Given the description of an element on the screen output the (x, y) to click on. 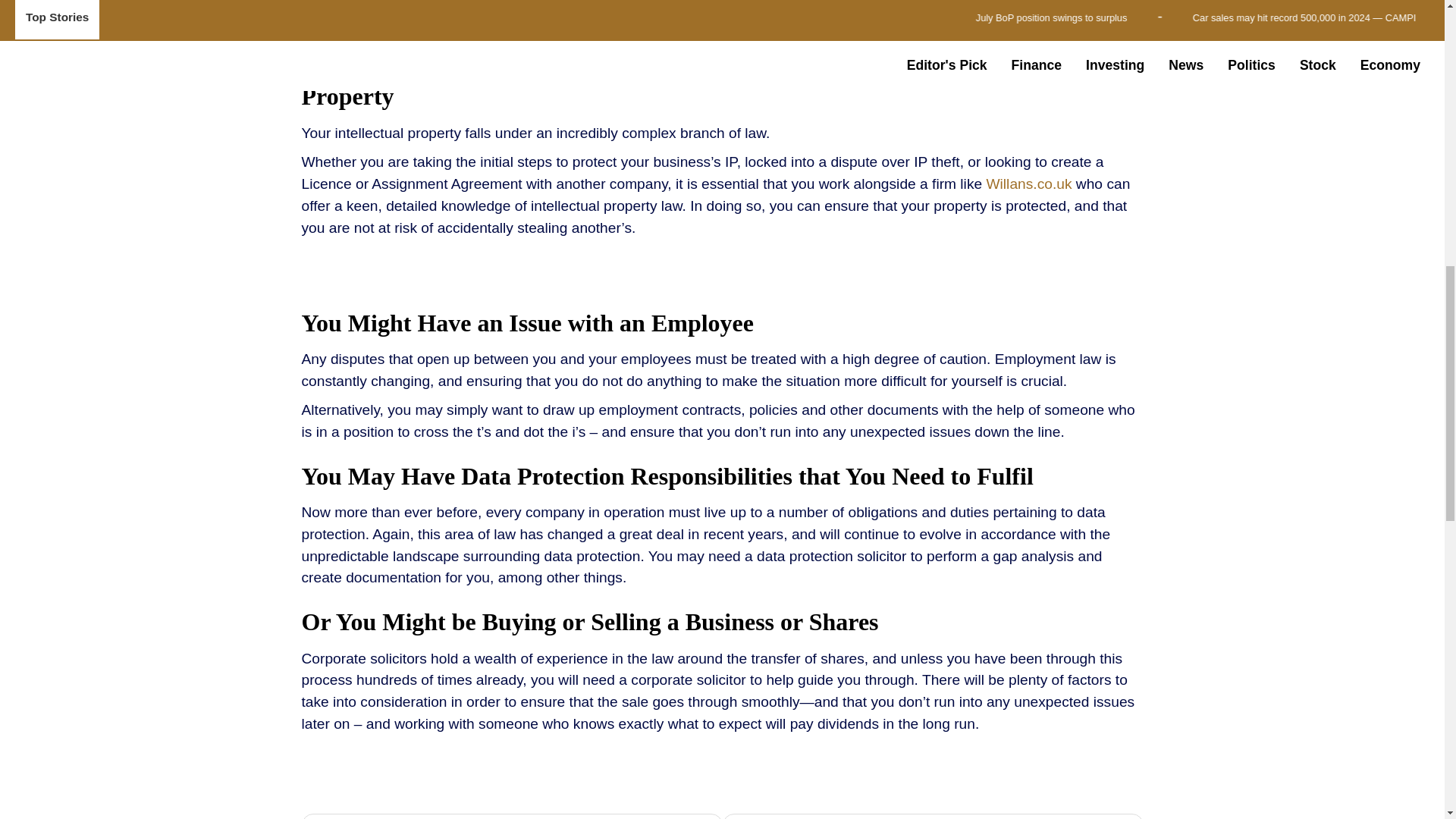
Professional Indemnity Insurance 101: All you need to know (932, 816)
Willans.co.uk (1028, 183)
